Given the description of an element on the screen output the (x, y) to click on. 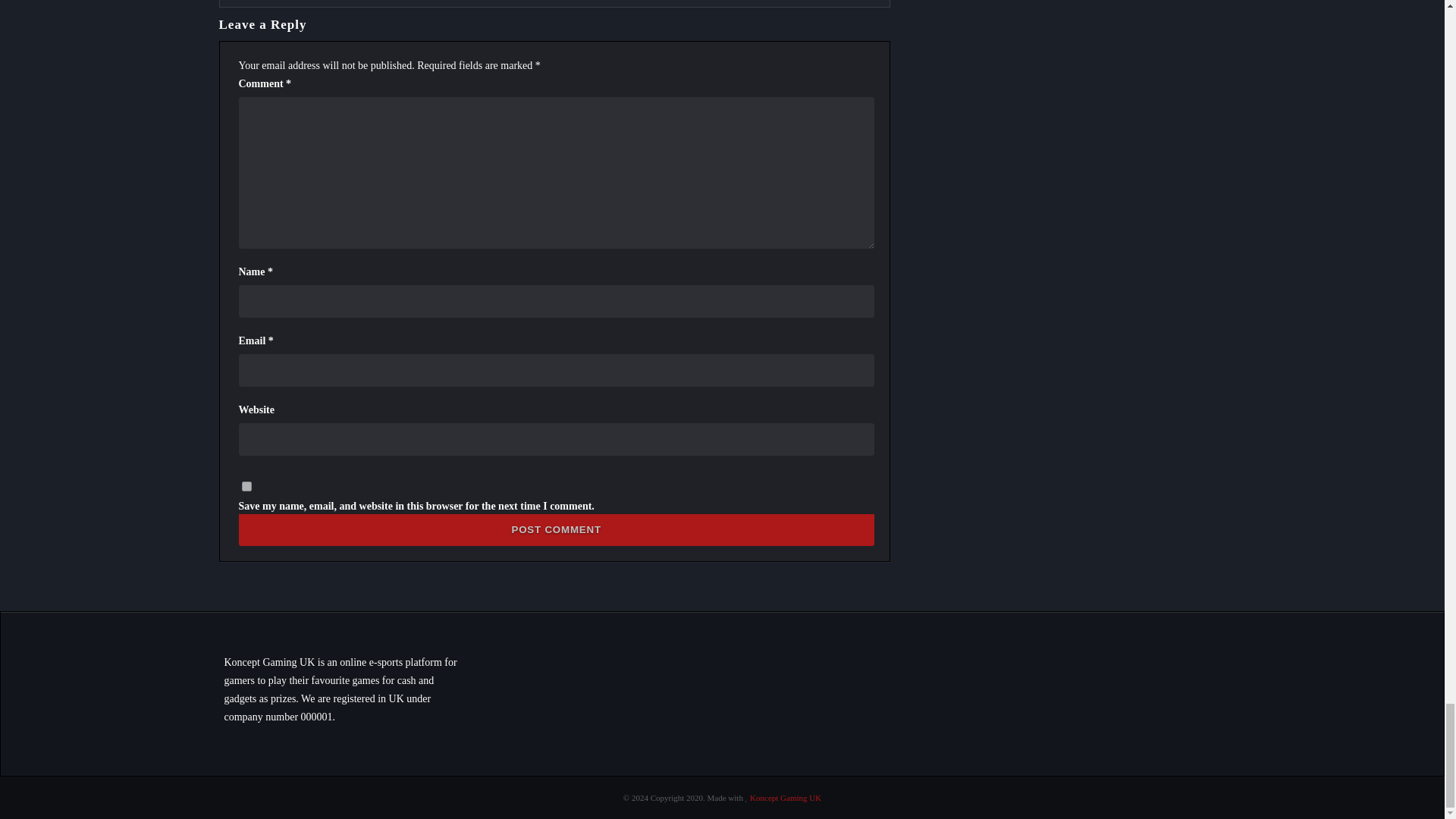
Koncept Gaming UK (785, 797)
Post Comment (555, 530)
yes (245, 486)
Post Comment (555, 530)
